Given the description of an element on the screen output the (x, y) to click on. 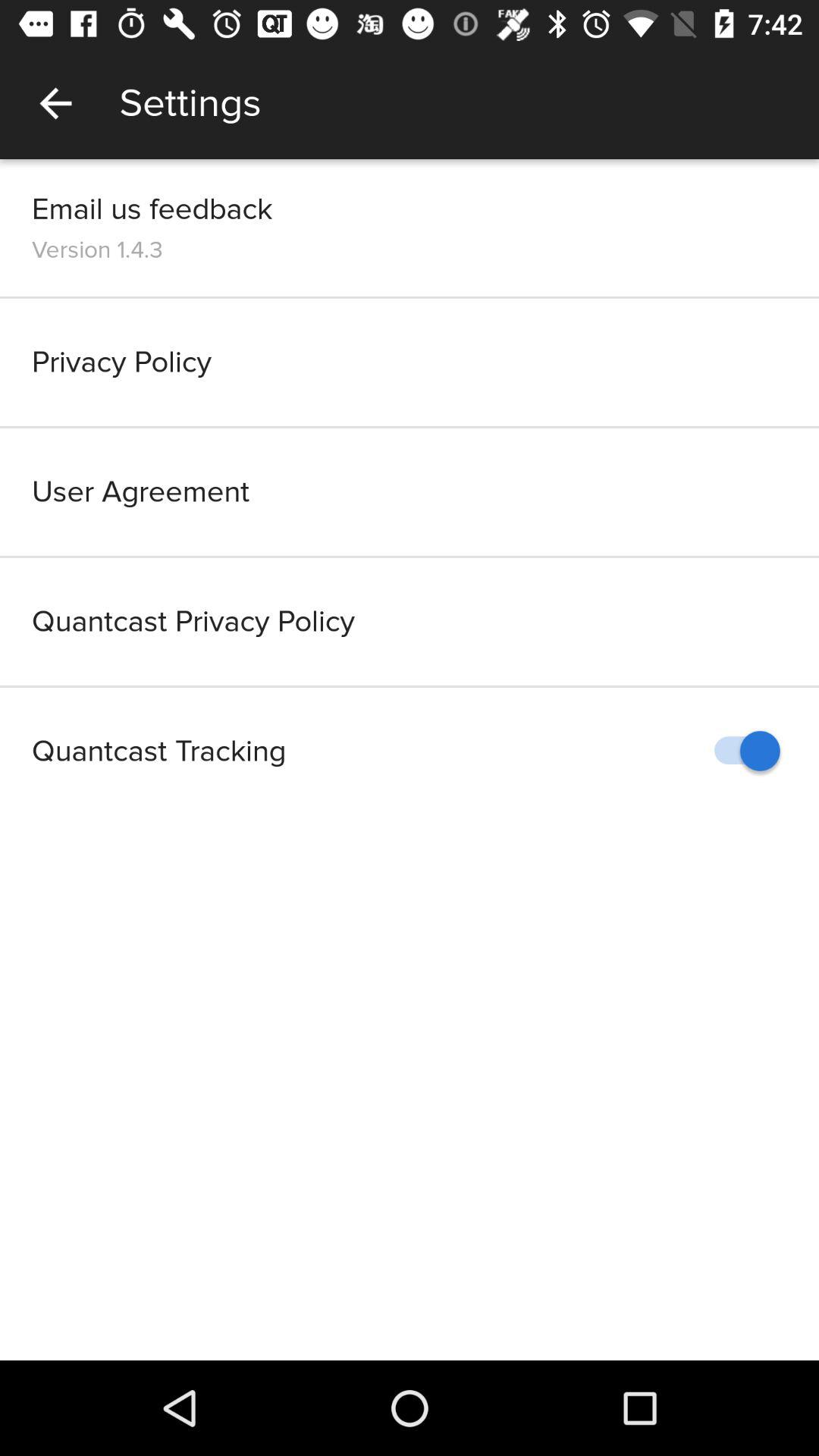
launch item below privacy policy item (409, 491)
